Given the description of an element on the screen output the (x, y) to click on. 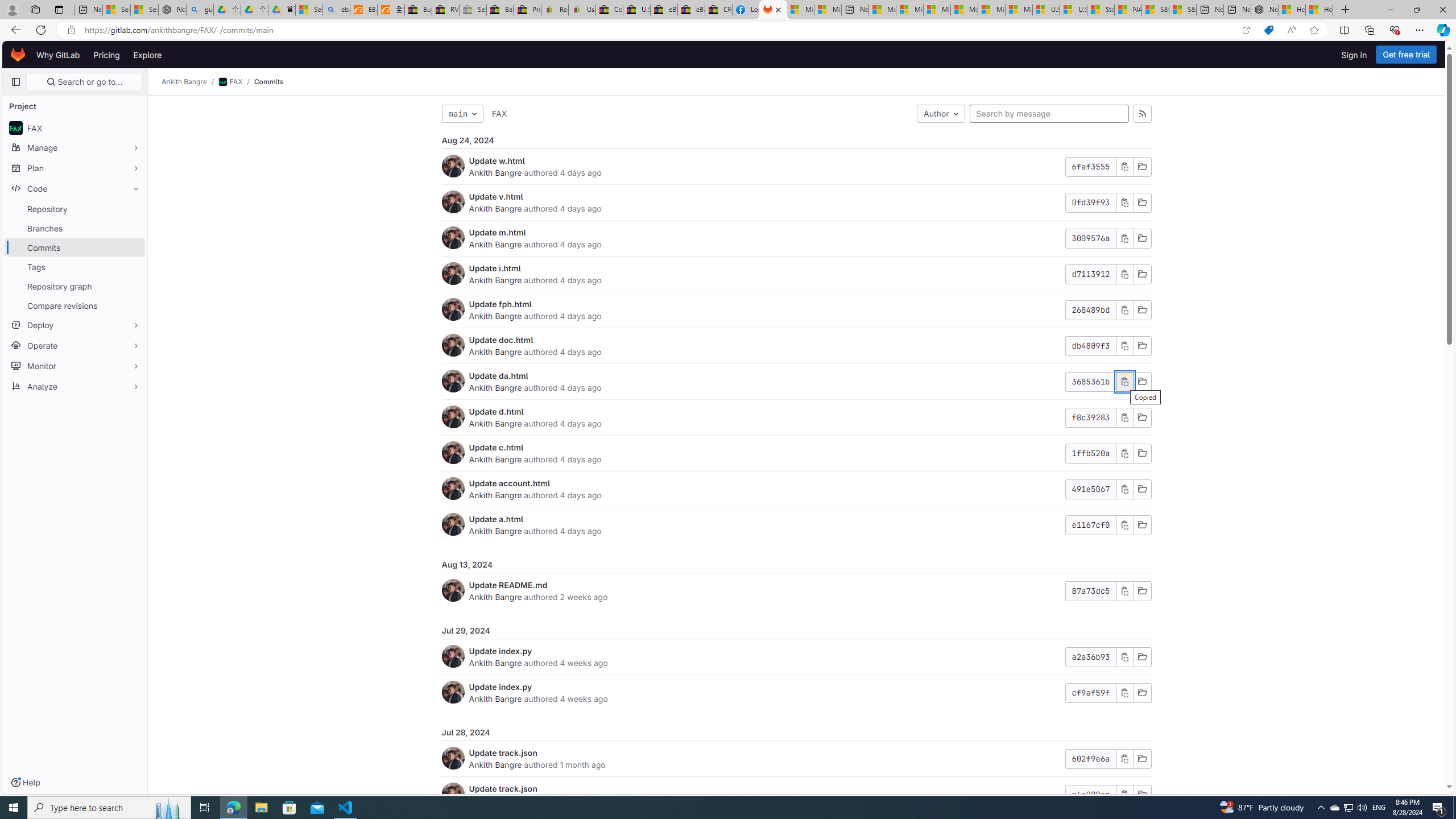
Jul 28, 2024 (796, 732)
Deploy (74, 324)
Update c.htmlAnkith Bangre authored 4 days ago1ffb520a (796, 453)
Update index.pyAnkith Bangre authored 4 weeks agoa2a36b93 (796, 656)
RV, Trailer & Camper Steps & Ladders for sale | eBay (445, 9)
User Privacy Notice | eBay (581, 9)
eBay Inc. Reports Third Quarter 2023 Results (691, 9)
Microsoft account | Home (936, 9)
Browse Files (1141, 794)
Repository (74, 208)
Sell worldwide with eBay - Sleeping (473, 9)
